Given the description of an element on the screen output the (x, y) to click on. 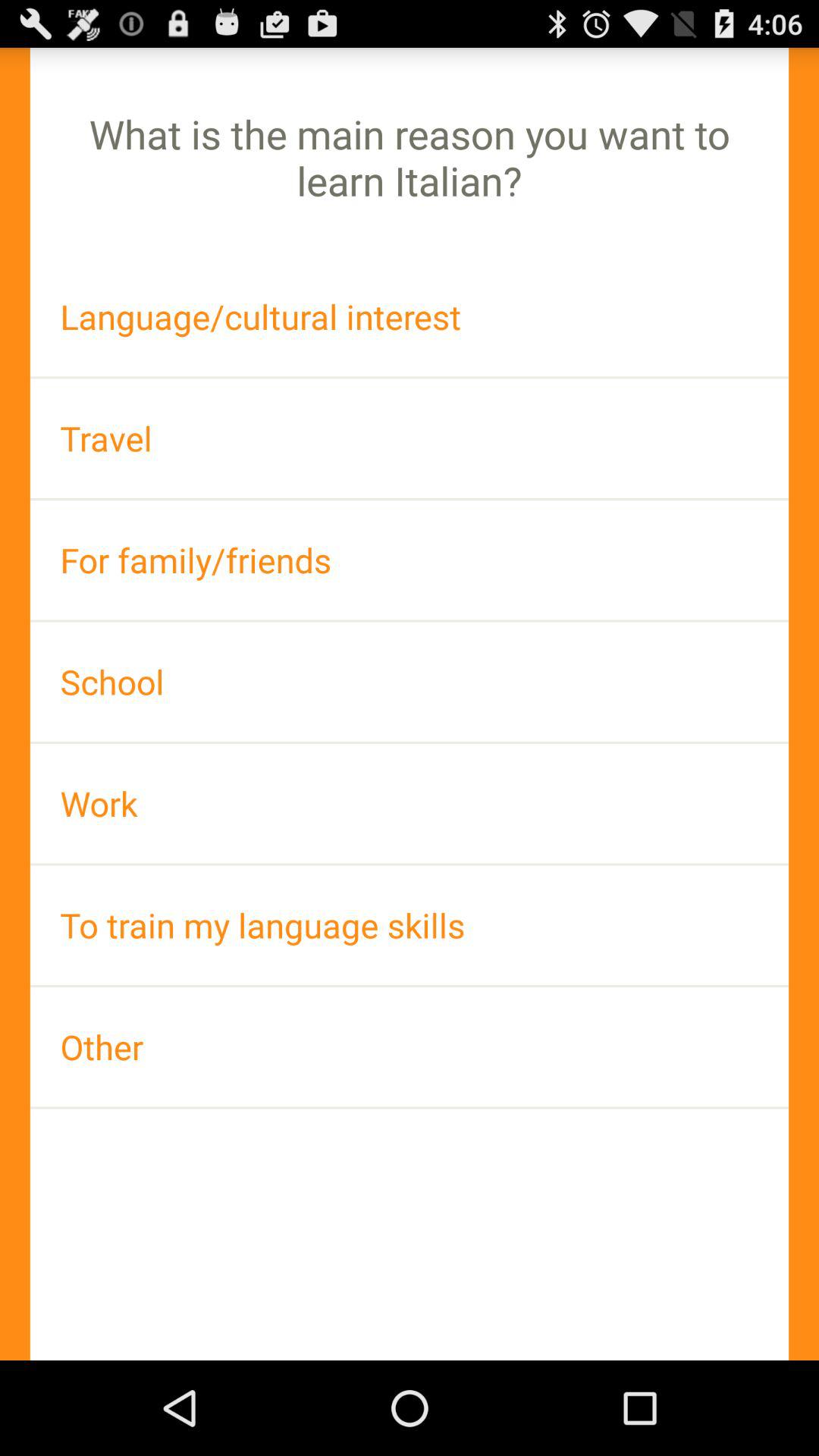
open the item below for family/friends item (409, 681)
